Given the description of an element on the screen output the (x, y) to click on. 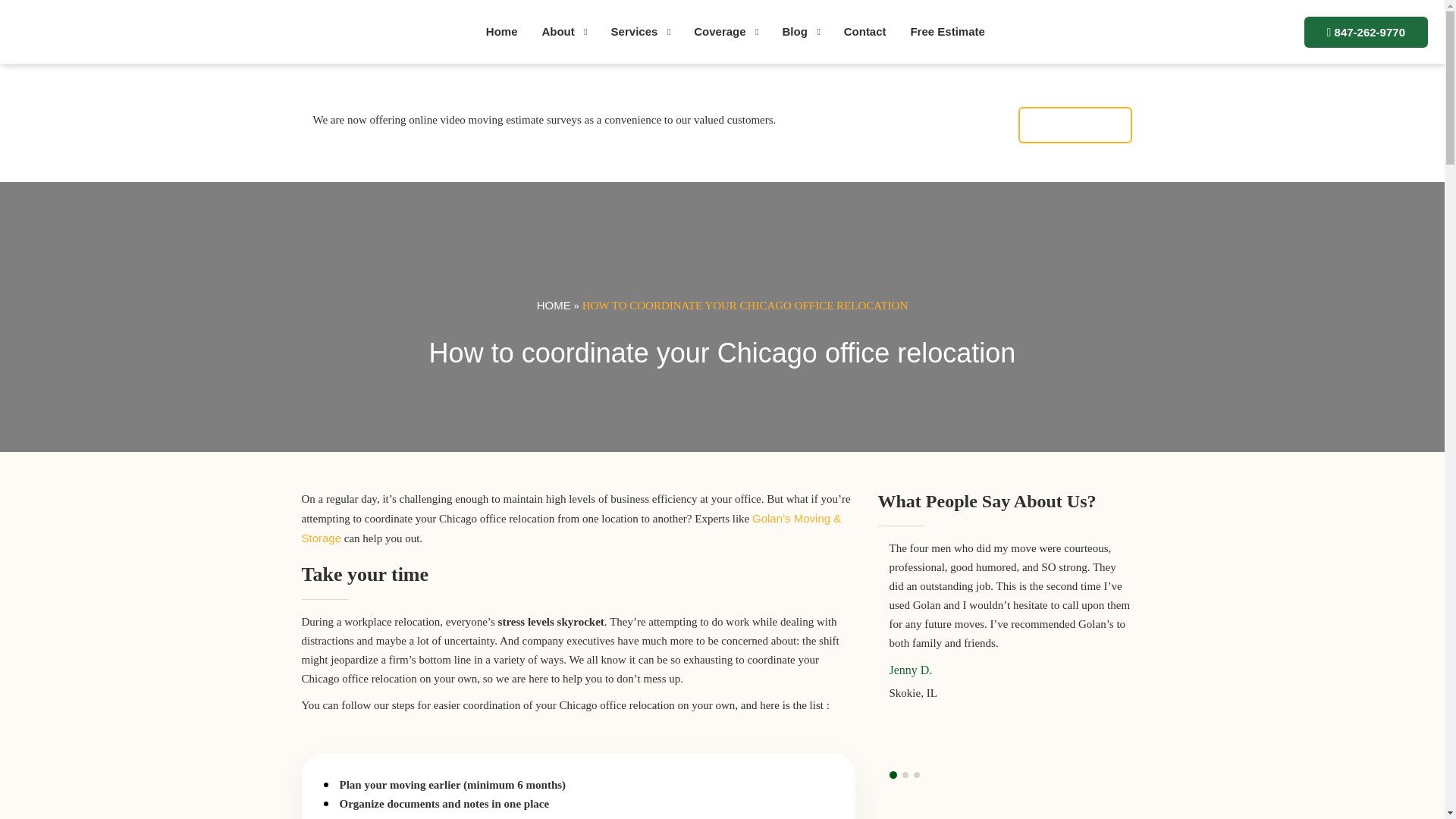
Services (633, 31)
Contact (864, 31)
Coverage (718, 31)
Free Estimate (946, 31)
About (558, 31)
Home (502, 31)
